Given the description of an element on the screen output the (x, y) to click on. 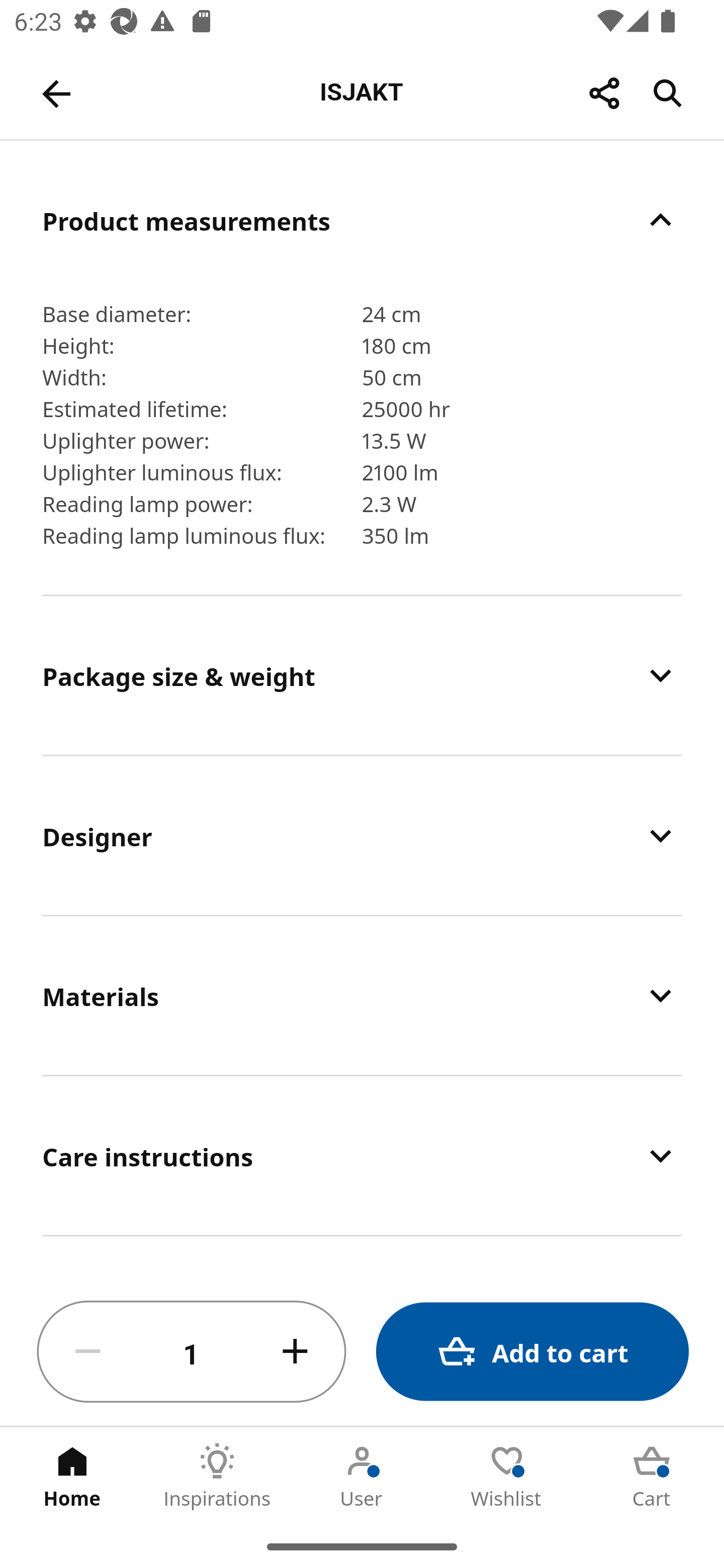
Product measurements (361, 219)
Package size & weight (361, 674)
Designer (361, 835)
Materials (361, 995)
Care instructions (361, 1156)
Add to cart (531, 1352)
1 (191, 1352)
Home
Tab 1 of 5 (72, 1476)
Inspirations
Tab 2 of 5 (216, 1476)
User
Tab 3 of 5 (361, 1476)
Wishlist
Tab 4 of 5 (506, 1476)
Cart
Tab 5 of 5 (651, 1476)
